Given the description of an element on the screen output the (x, y) to click on. 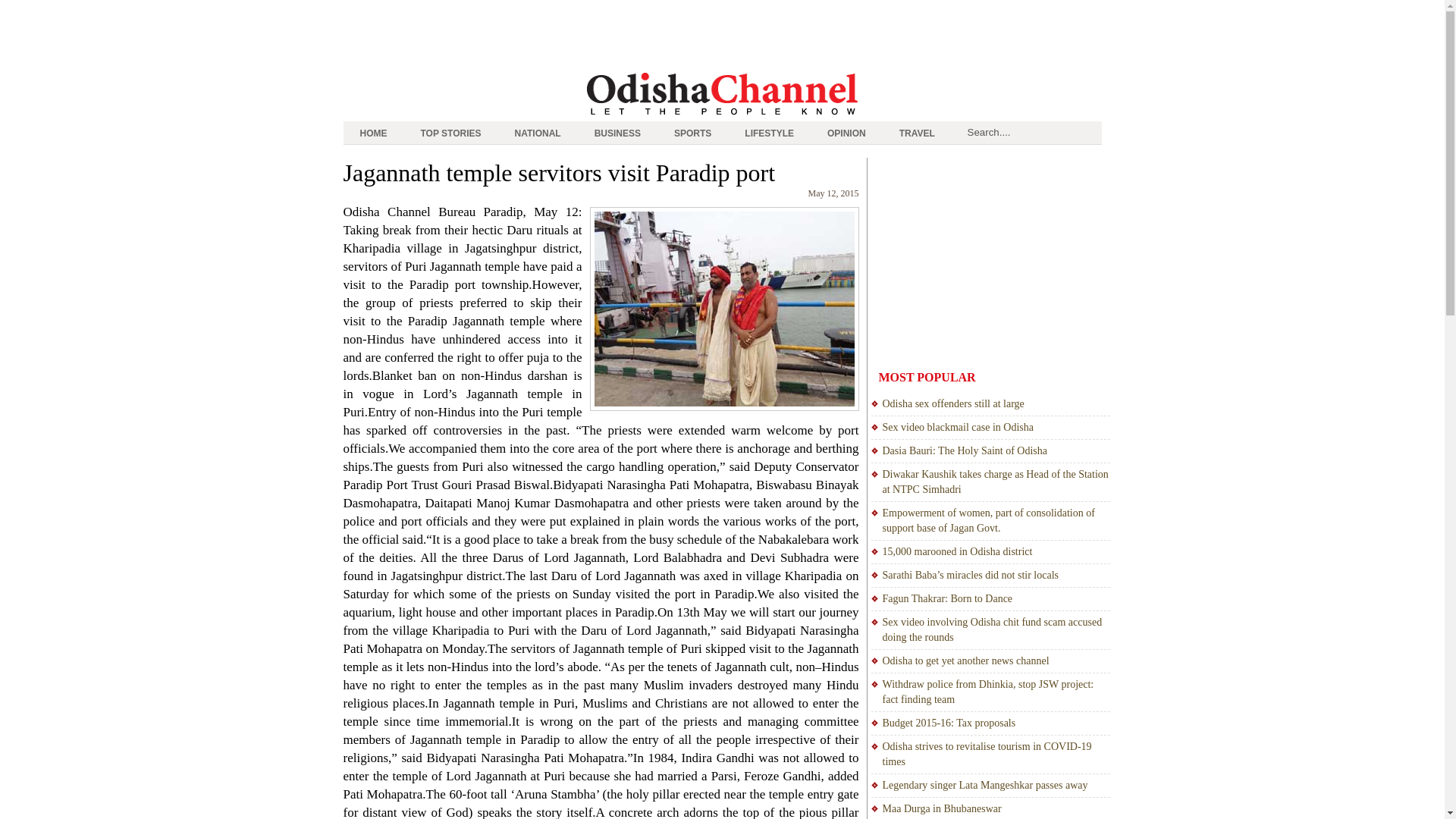
HOME (372, 133)
OPINION (846, 133)
LIFESTYLE (769, 133)
TRAVEL (917, 133)
Search.... (1030, 131)
TOP STORIES (450, 133)
BUSINESS (618, 133)
NATIONAL (537, 133)
Jagannath temple servitors visit Paradip port (558, 172)
SPORTS (693, 133)
